Given the description of an element on the screen output the (x, y) to click on. 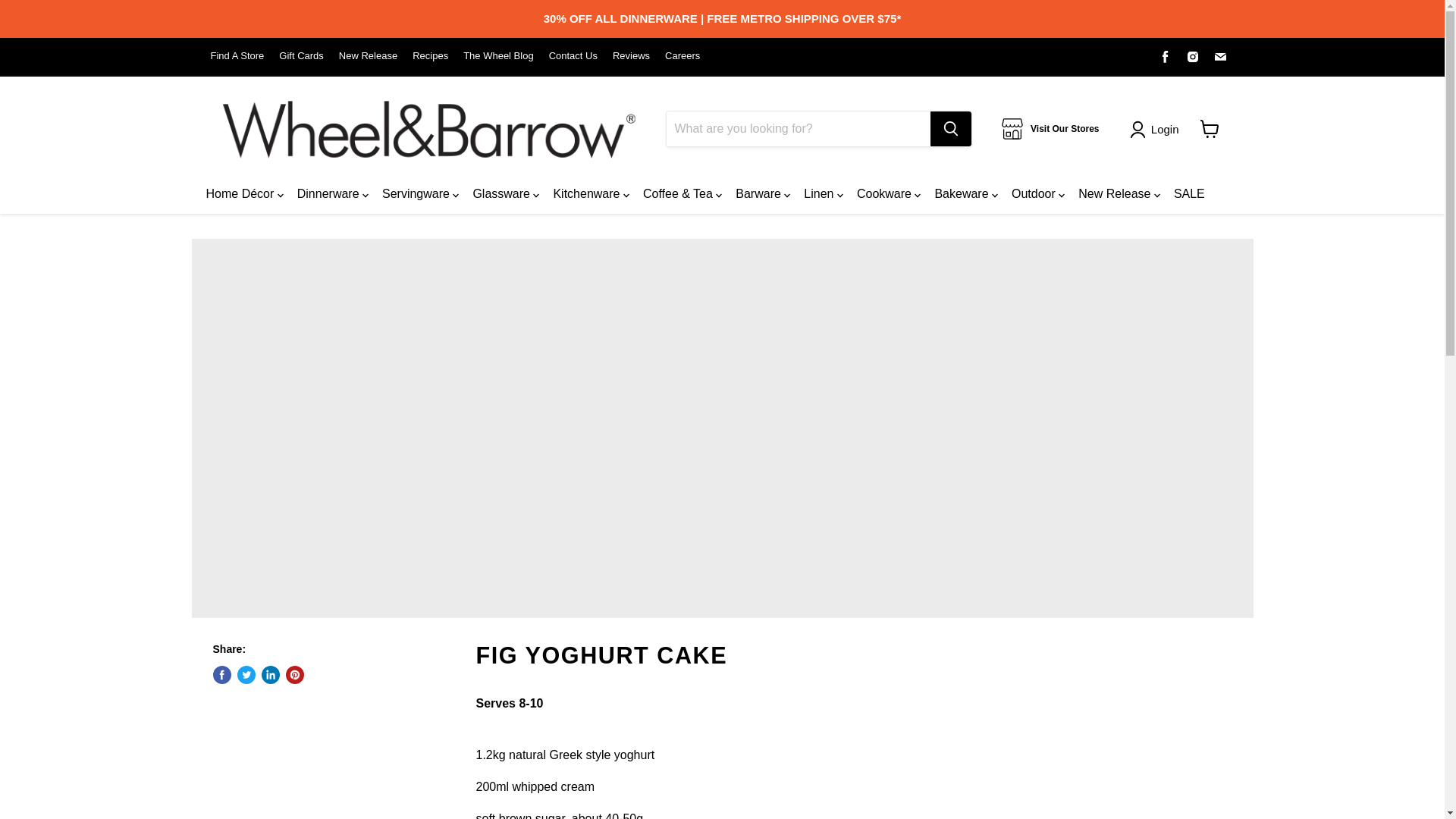
Reviews (630, 56)
Facebook (1165, 55)
Find us on Email (1219, 55)
Contact Us (572, 56)
Find A Store (237, 56)
Find us on Instagram (1193, 55)
Login (1164, 128)
New Release (368, 56)
Gift Cards (301, 56)
Find us on Facebook (1165, 55)
